Given the description of an element on the screen output the (x, y) to click on. 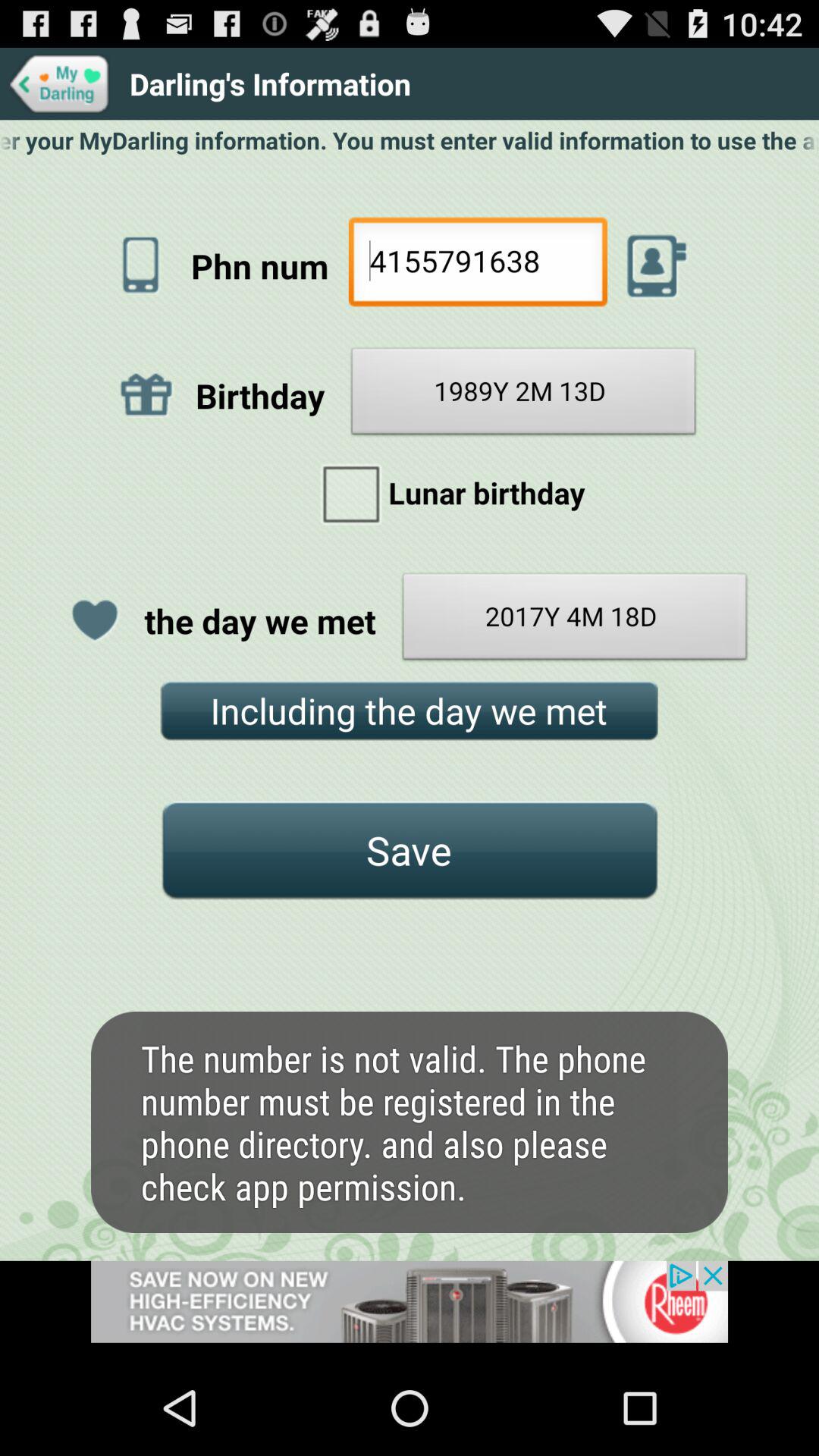
go to home page (59, 83)
